Given the description of an element on the screen output the (x, y) to click on. 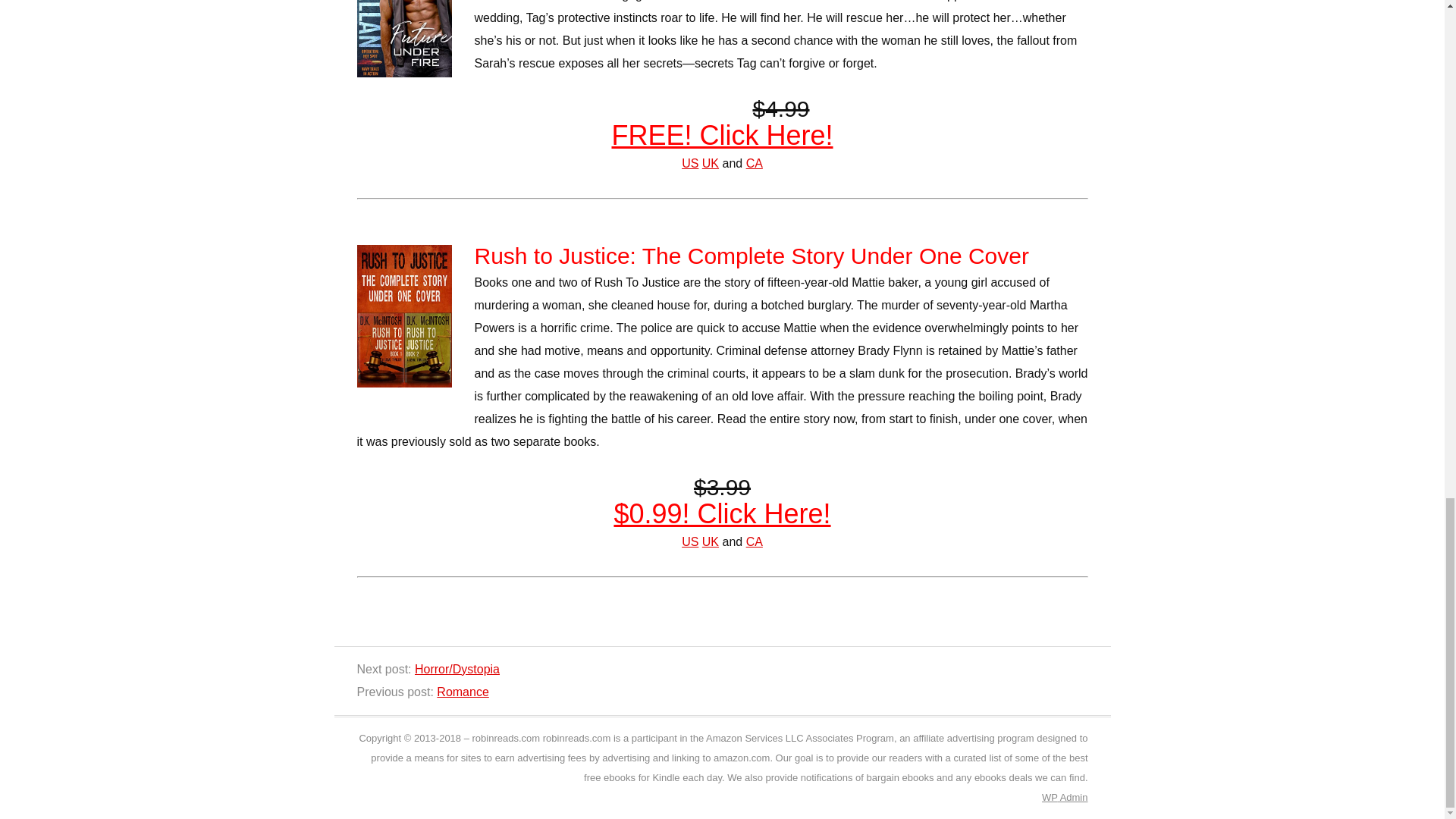
UK (710, 163)
CA (753, 163)
WordPress (1050, 797)
US (689, 163)
WP Admin (1064, 797)
UK (710, 541)
CA (753, 541)
US (689, 541)
Romance (461, 691)
FREE! Click Here! (721, 134)
